Given the description of an element on the screen output the (x, y) to click on. 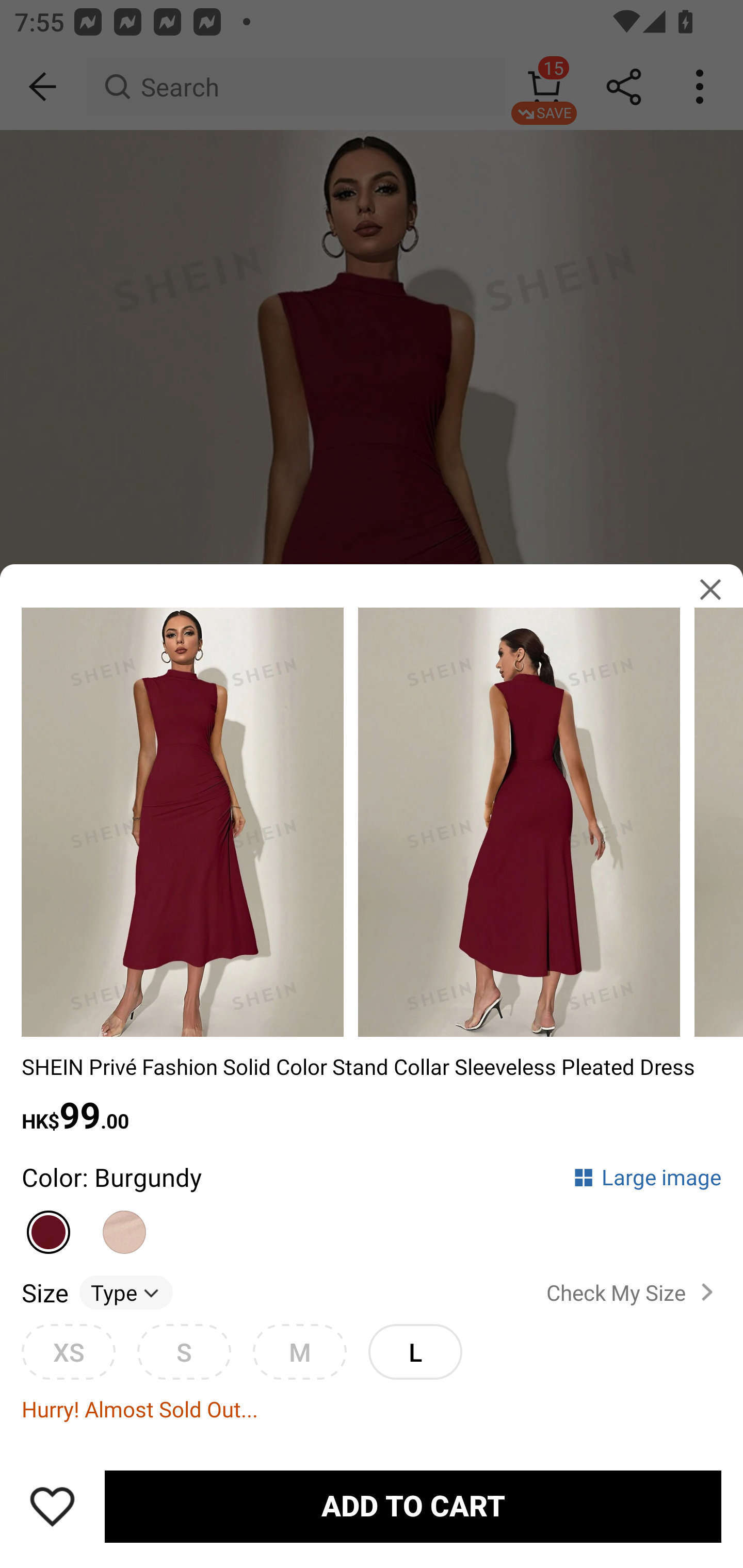
Color: Burgundy (111, 1177)
Large image (646, 1177)
Burgundy (48, 1224)
Apricot (124, 1224)
Size (44, 1291)
Type (126, 1291)
Check My Size (633, 1292)
XS (68, 1351)
S (184, 1351)
M (299, 1351)
L unselected option (415, 1351)
Hurry! Almost Sold Out... (371, 1408)
ADD TO CART (412, 1506)
Save (52, 1505)
